Given the description of an element on the screen output the (x, y) to click on. 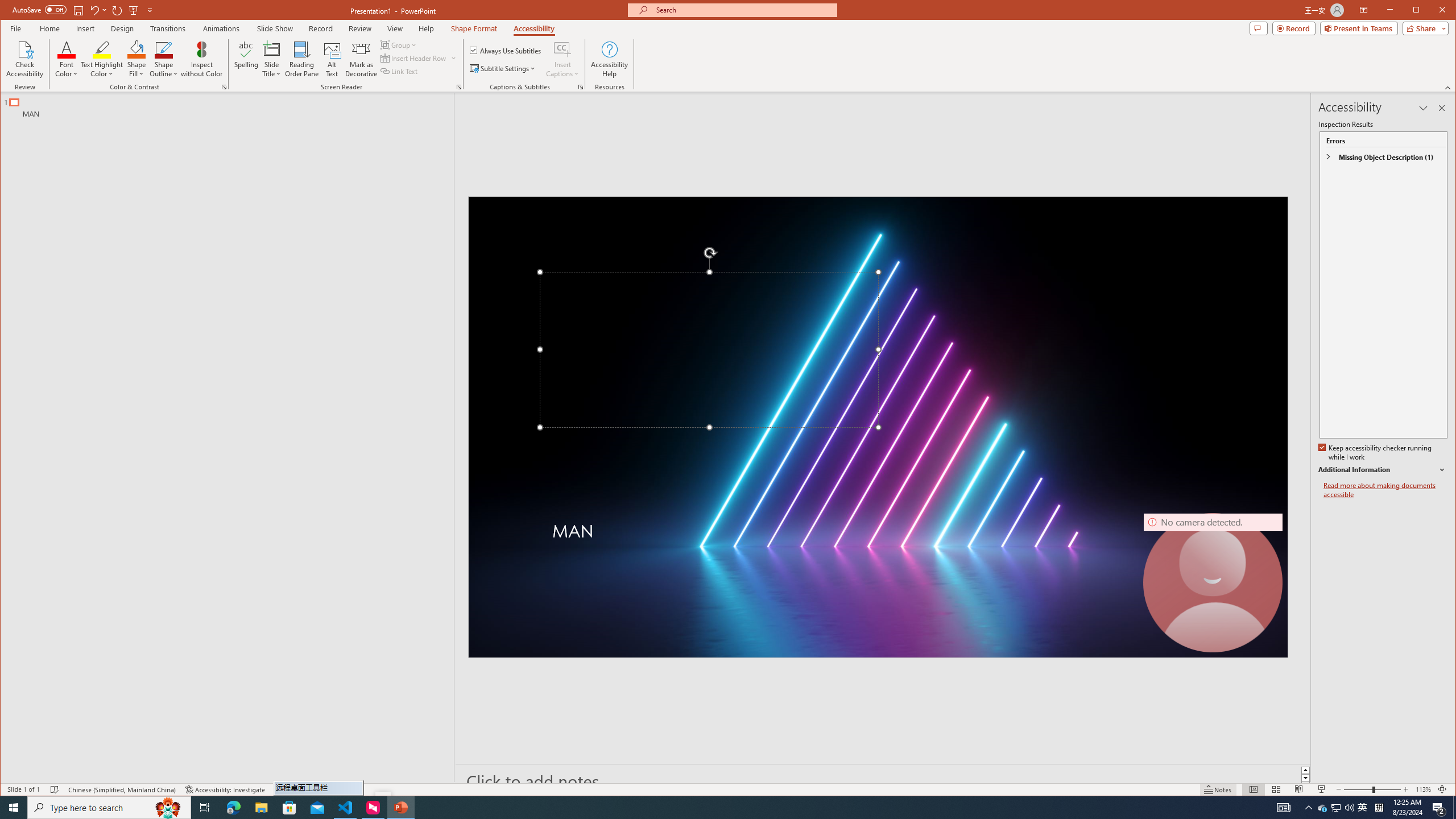
Accessibility Help (608, 59)
